Given the description of an element on the screen output the (x, y) to click on. 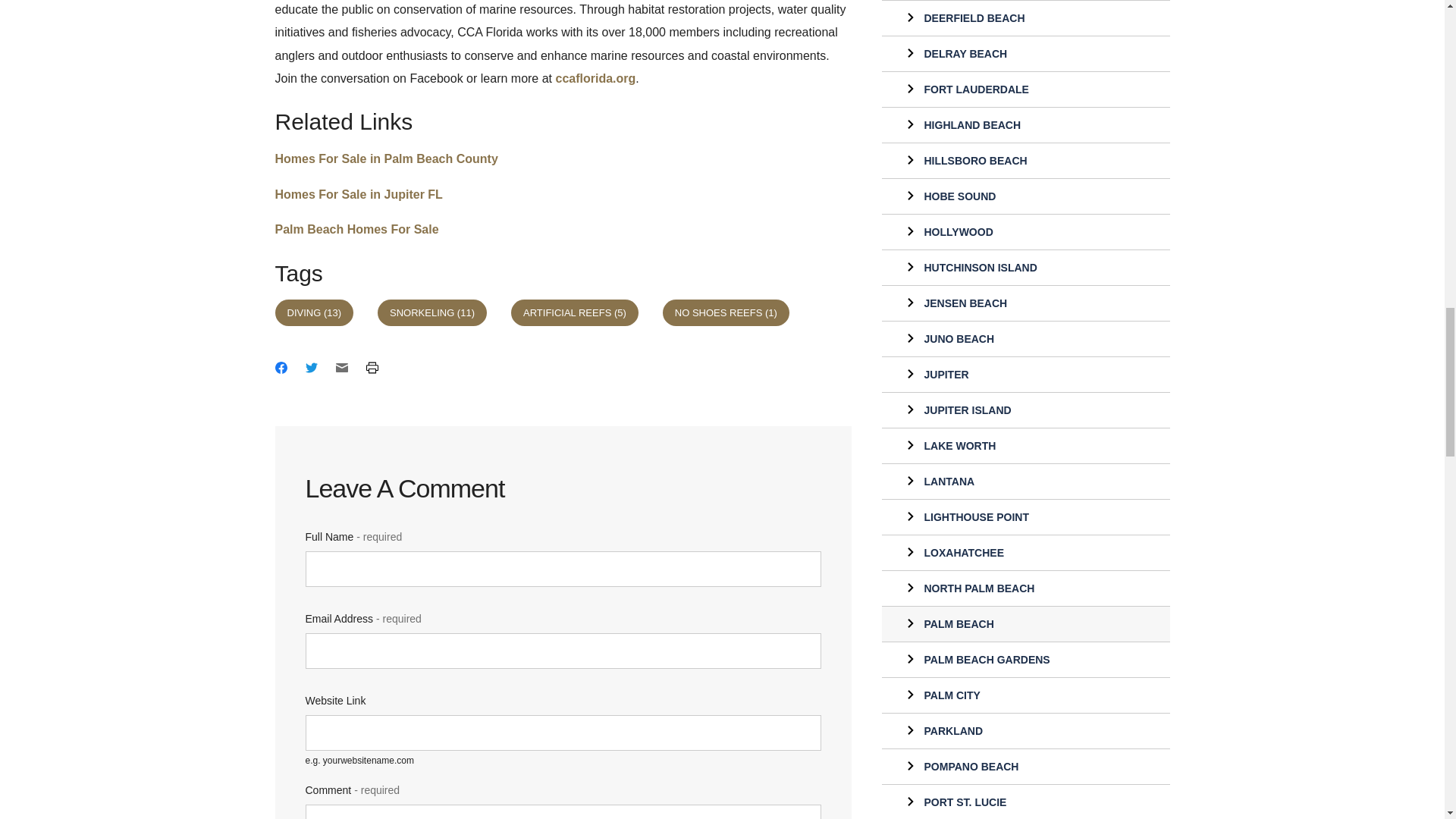
Palm Beach Homes For Sale (356, 228)
no shoes reefs (725, 312)
Homes For Sale in Palm Beach County (386, 158)
Artificial Reefs (575, 312)
Homes For Sale in Jupiter FL (358, 194)
Snorkeling (431, 312)
Diving (314, 312)
